Given the description of an element on the screen output the (x, y) to click on. 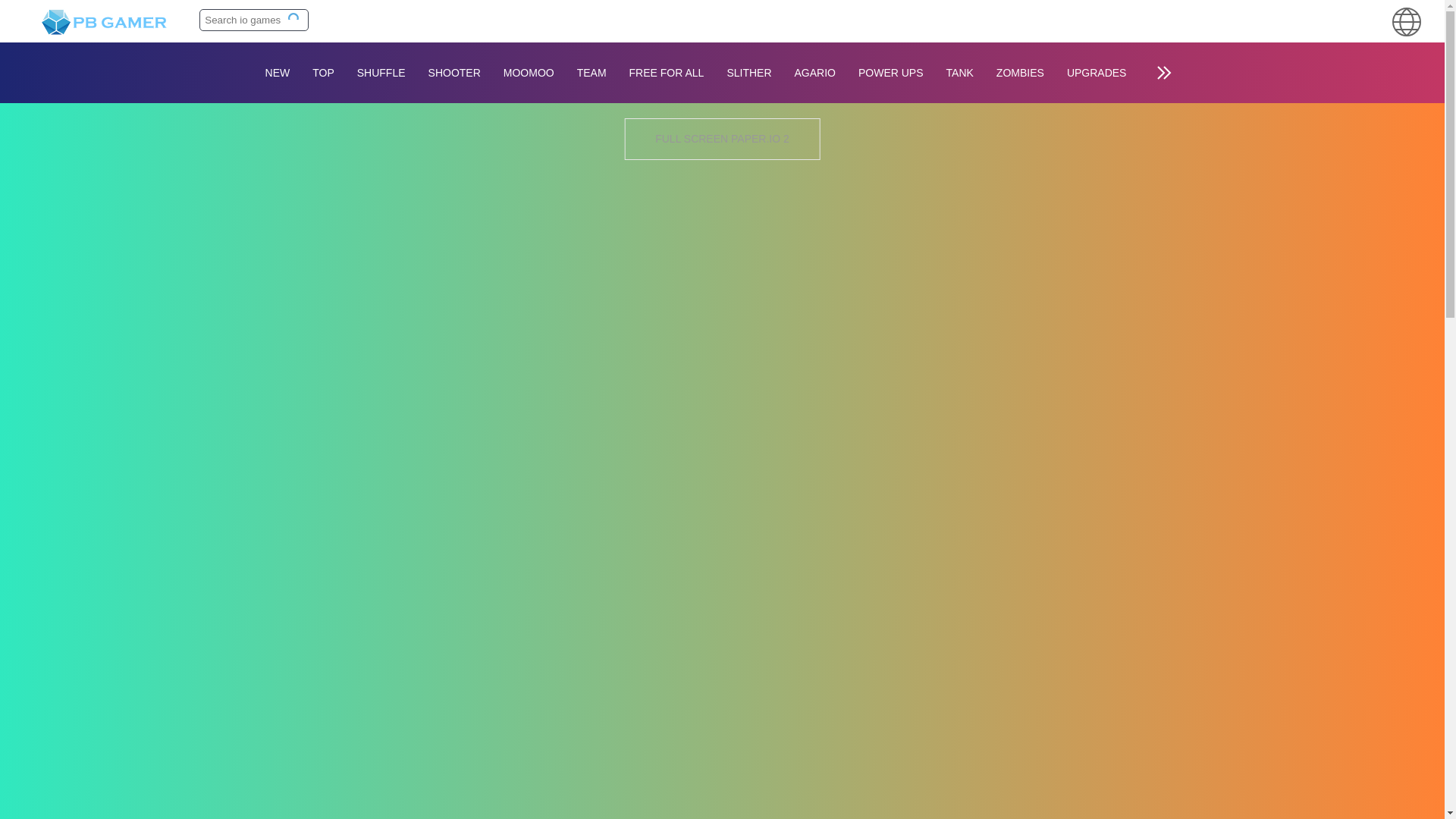
UPGRADES (1096, 72)
FREE FOR ALL (666, 72)
SLITHER (748, 72)
Search (294, 19)
SHUFFLE (381, 72)
ZOMBIES (1020, 72)
AGARIO (814, 72)
SHOOTER (454, 72)
Search (294, 19)
POWER UPS (890, 72)
MOOMOO (529, 72)
